Given the description of an element on the screen output the (x, y) to click on. 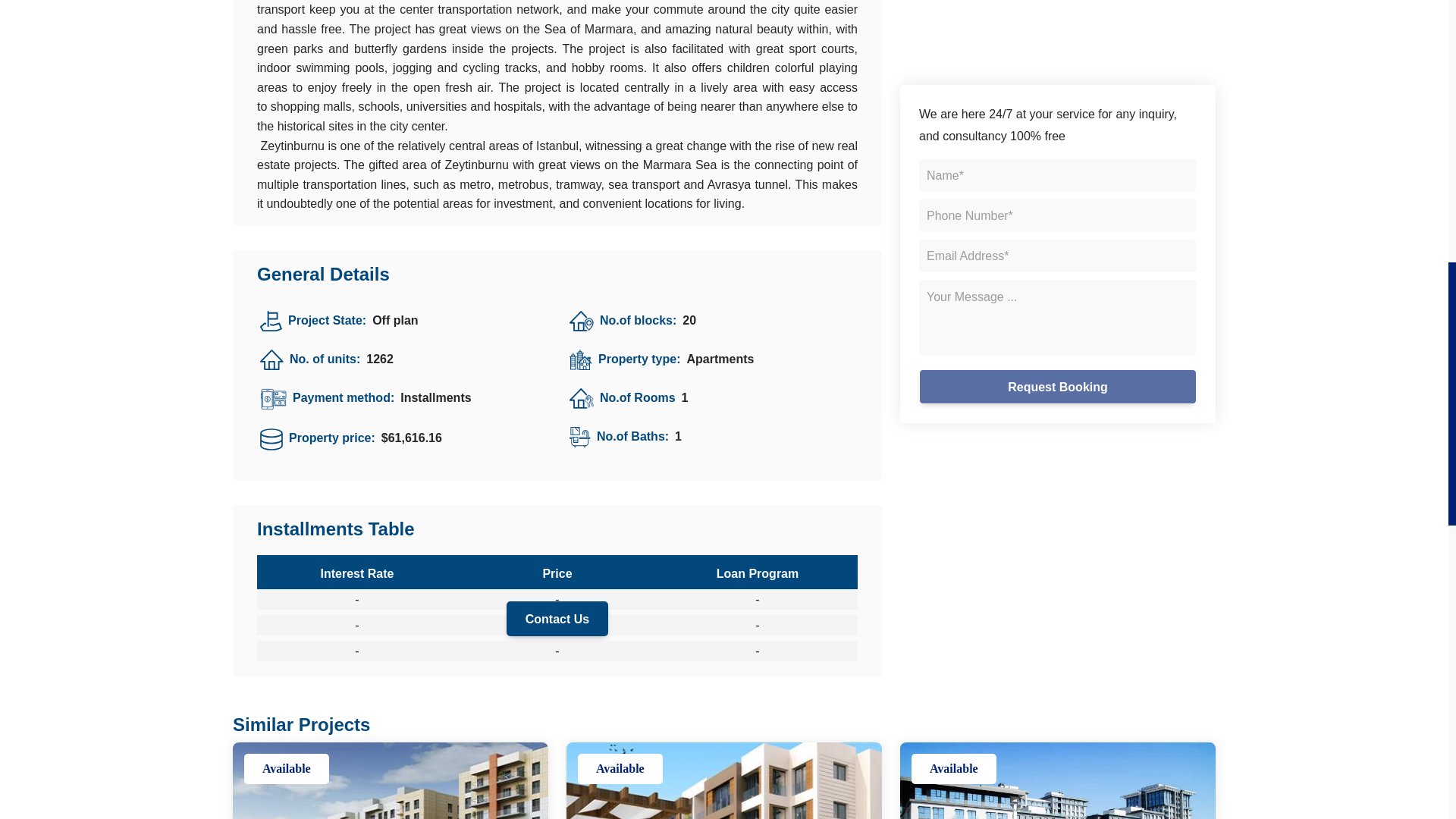
Contact Us (557, 618)
